Given the description of an element on the screen output the (x, y) to click on. 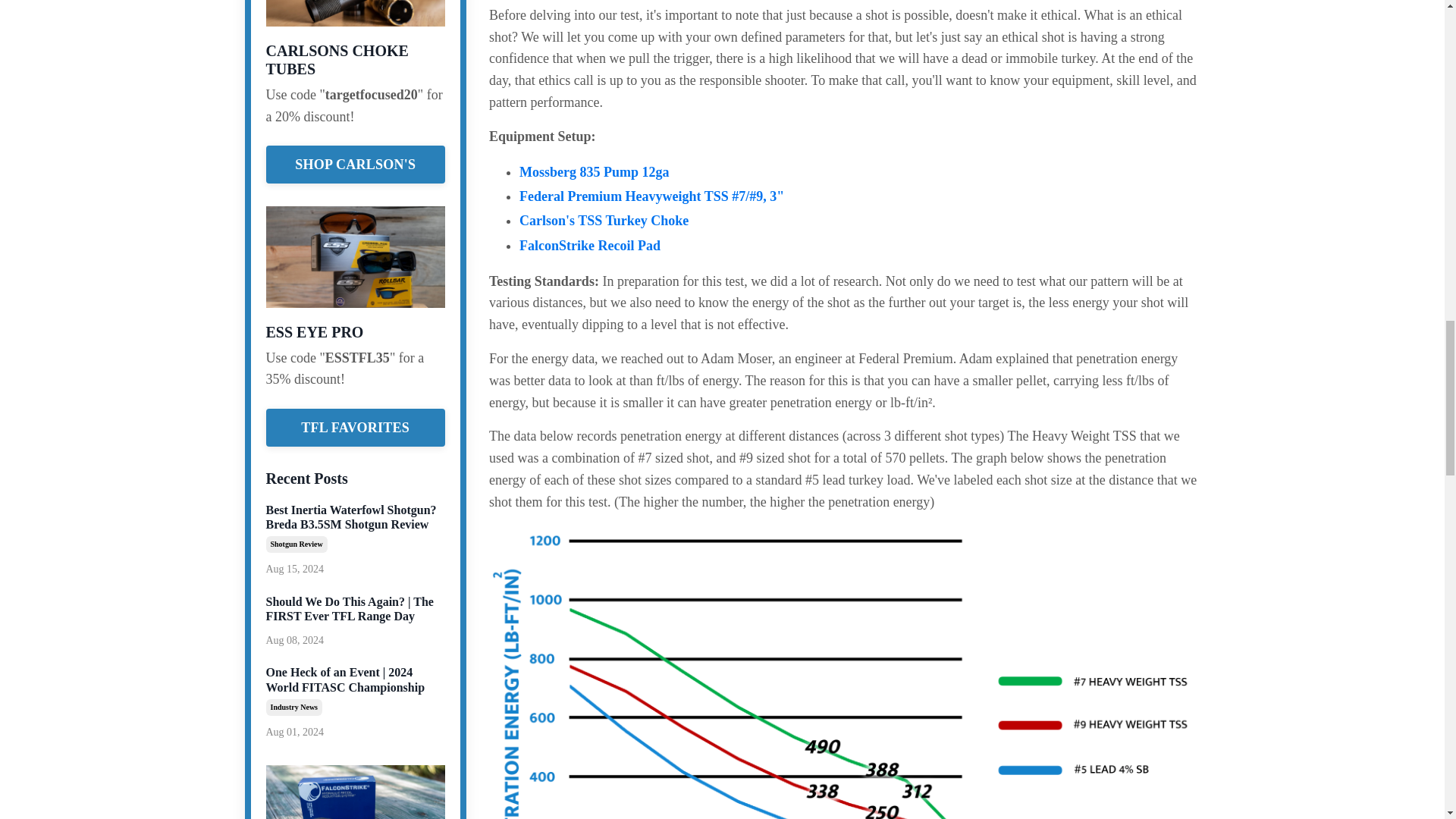
SHOP CARLSON'S (354, 164)
Best Inertia Waterfowl Shotgun? Breda B3.5SM Shotgun Review (354, 516)
Carlson's TSS Turkey Choke (603, 220)
Mossberg 835 Pump 12ga (594, 171)
FalconStrike Recoil Pad (590, 245)
Industry News (292, 707)
TFL FAVORITES (354, 427)
Shotgun Review (295, 544)
